Given the description of an element on the screen output the (x, y) to click on. 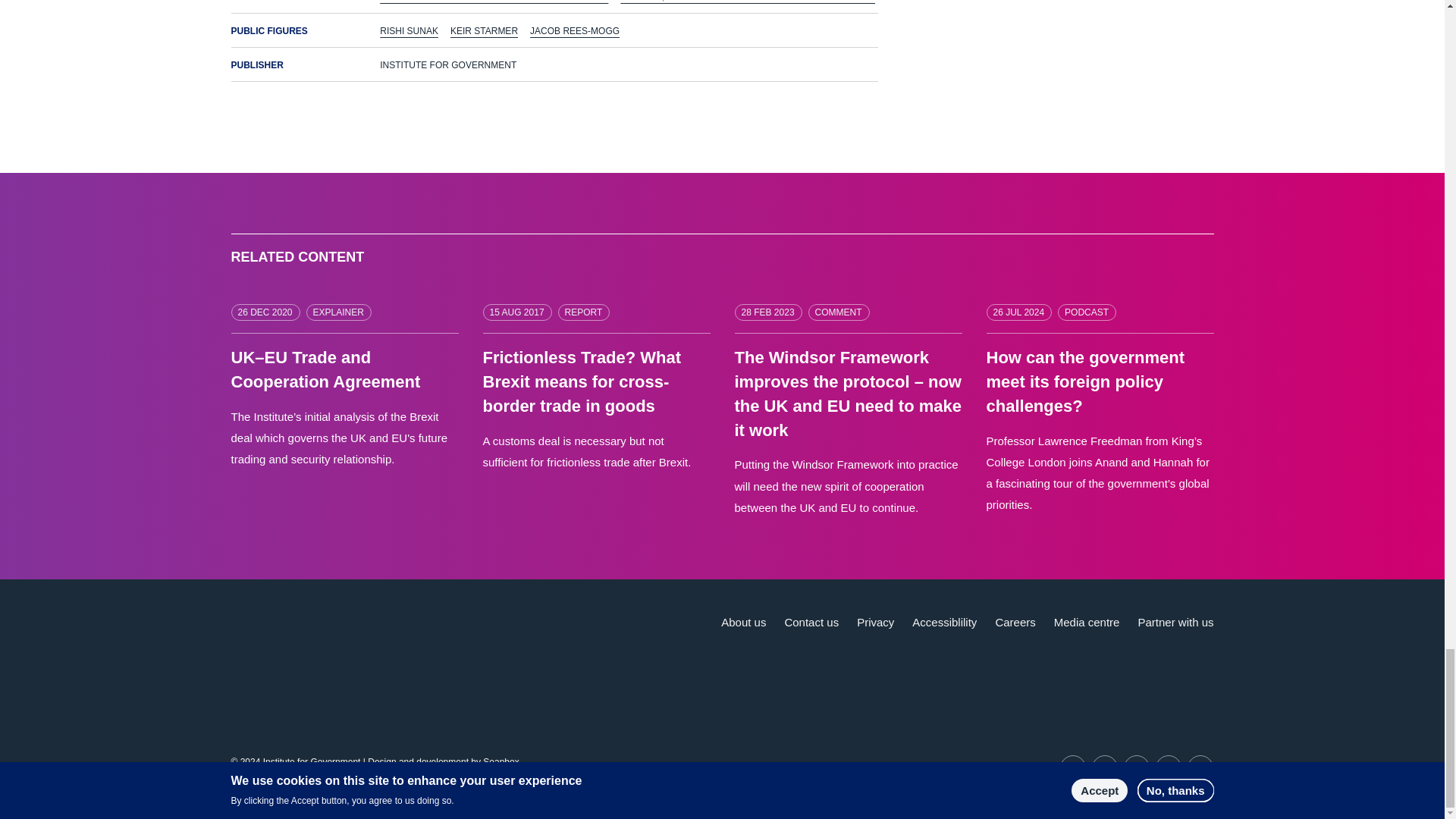
Visit IfG Twitter profile (1072, 768)
Visit IfG Instagram profile (1200, 768)
Return to the homepage (321, 639)
Visit IfG LinkedIn profile (1105, 768)
Visit IfG YouTube profile (1137, 768)
Visit IfG Facebook profile (1168, 768)
